Given the description of an element on the screen output the (x, y) to click on. 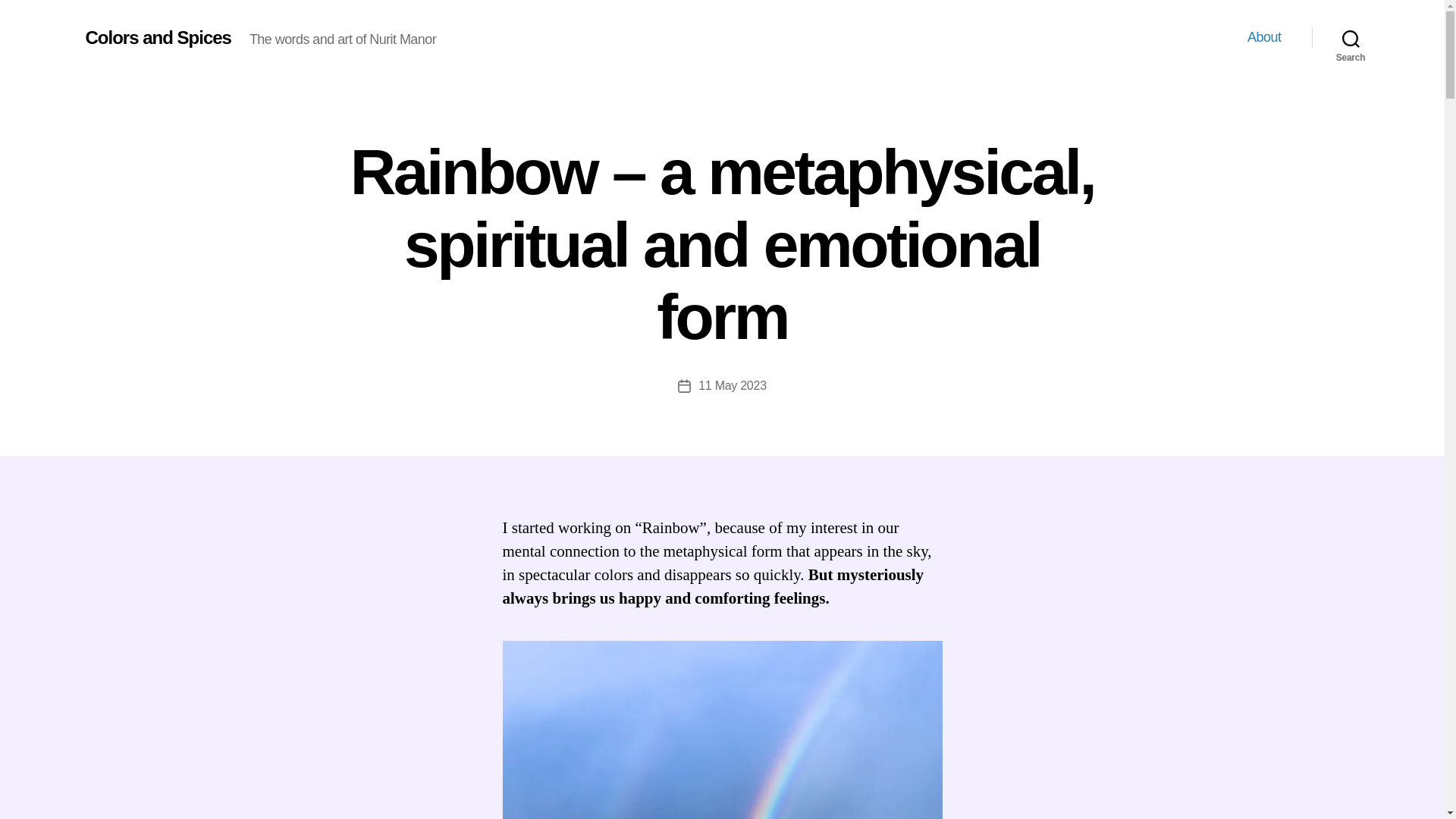
11 May 2023 (732, 385)
Search (1350, 37)
About (1264, 37)
Colors and Spices (157, 37)
